Given the description of an element on the screen output the (x, y) to click on. 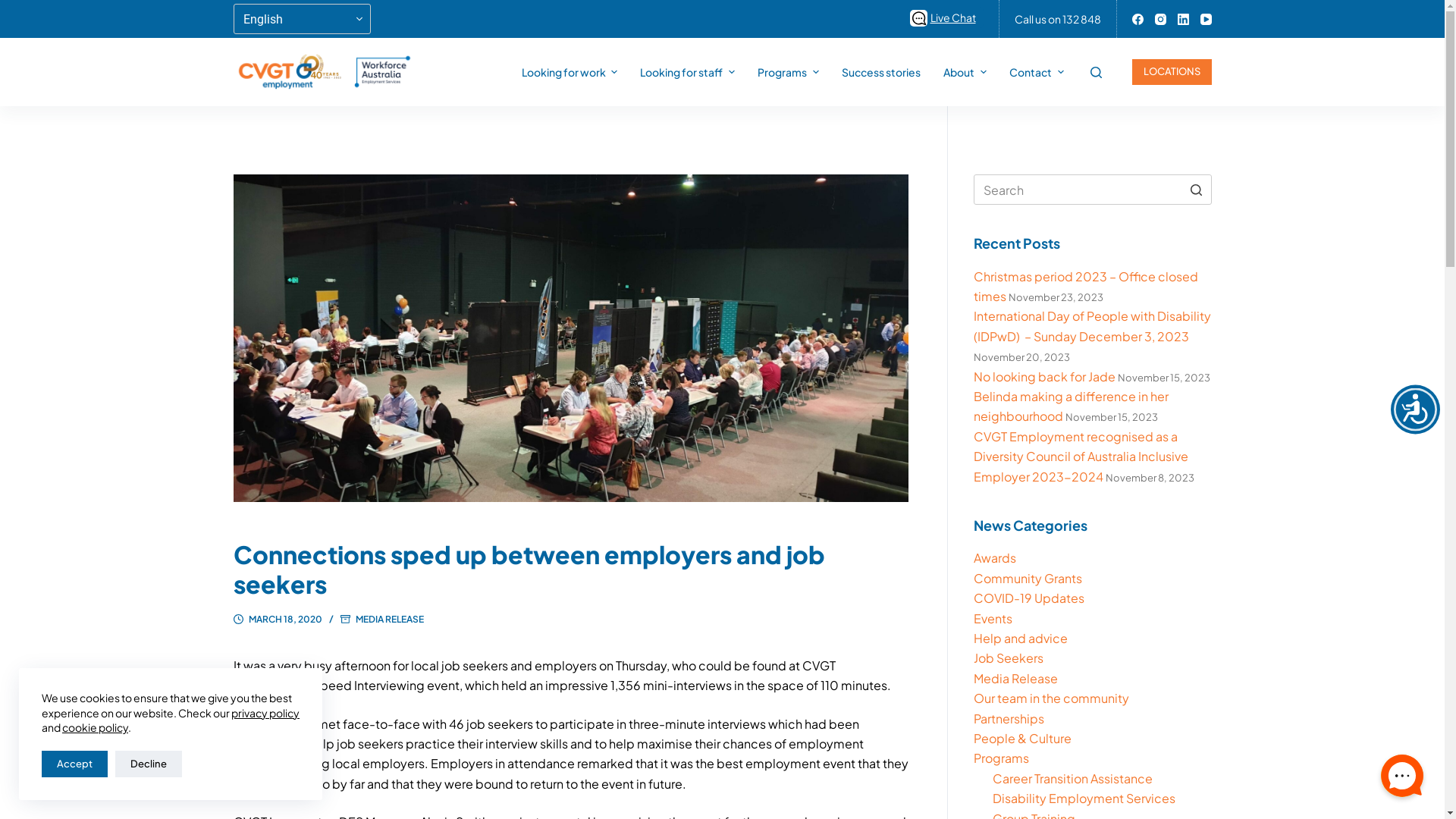
About Element type: text (964, 71)
Accept Element type: text (74, 763)
No looking back for Jade Element type: text (1044, 376)
Partnerships Element type: text (1008, 718)
MEDIA RELEASE Element type: text (388, 618)
Job Seekers Element type: text (1008, 657)
Community Grants Element type: text (1027, 578)
COVID-19 Updates Element type: text (1028, 597)
132 848 Element type: text (1080, 18)
LOCATIONS Element type: text (1171, 71)
Our team in the community Element type: text (1051, 698)
Skip to content Element type: text (15, 7)
Career Transition Assistance Element type: text (1072, 778)
Belinda making a difference in her neighbourhood Element type: text (1070, 405)
Looking for staff Element type: text (687, 71)
Events Element type: text (992, 618)
Media Release Element type: text (1015, 678)
cookie policy Element type: text (95, 727)
People & Culture Element type: text (1022, 738)
Disability Employment Services Element type: text (1083, 798)
Success stories Element type: text (880, 71)
Programs Element type: text (788, 71)
Live Chat Element type: text (944, 17)
Decline Element type: text (148, 763)
Contact Element type: text (1036, 71)
Search for... Element type: hover (1092, 189)
Help and advice Element type: text (1020, 638)
privacy policy Element type: text (265, 712)
Programs Element type: text (1001, 757)
Looking for work Element type: text (569, 71)
Awards Element type: text (994, 557)
